Given the description of an element on the screen output the (x, y) to click on. 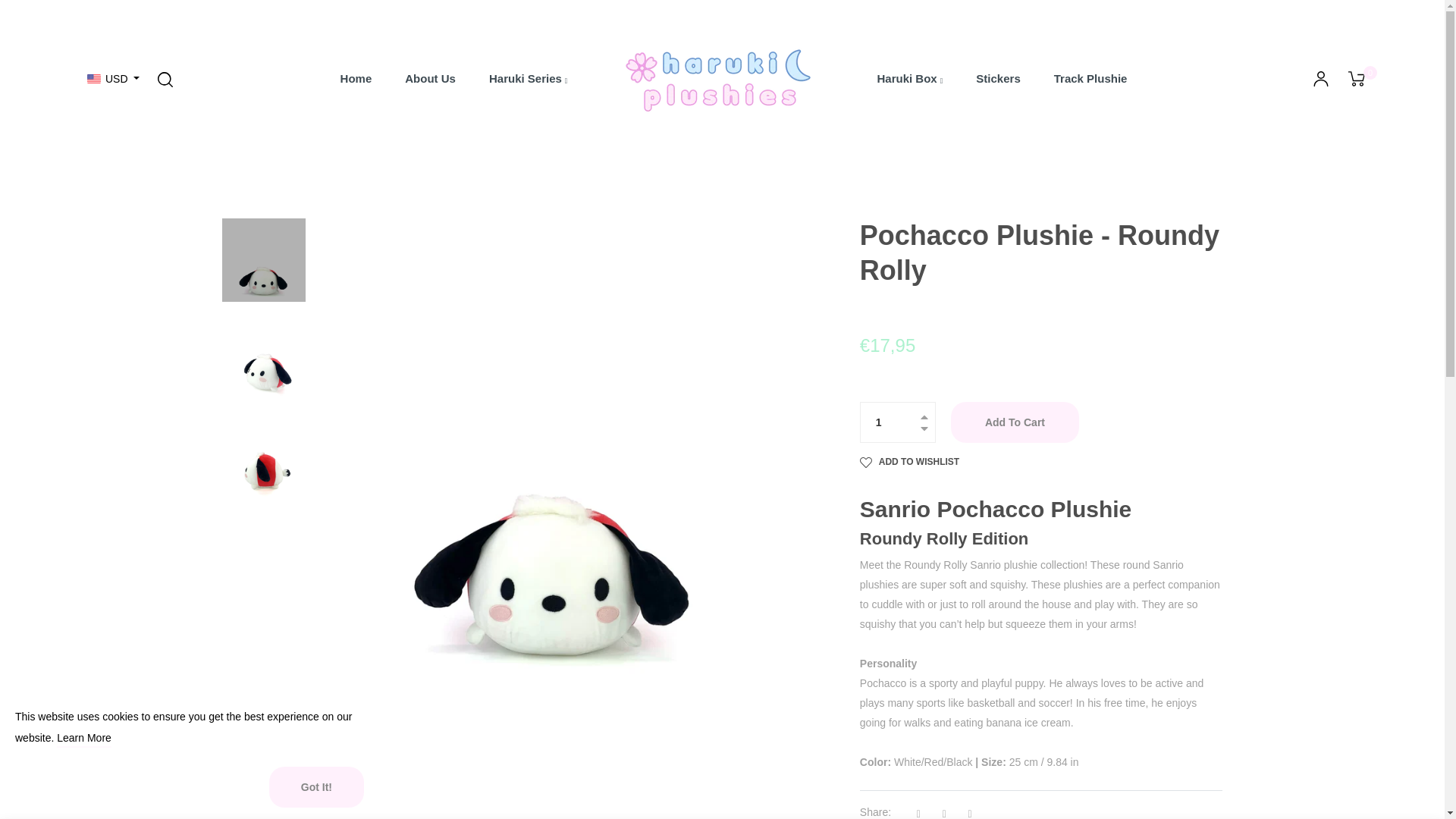
Currencies (113, 78)
Track Plushie (1090, 78)
Stickers (997, 78)
About Us (429, 78)
Haruki Series (528, 78)
Haruki Box (909, 78)
Shopping Cart (1356, 78)
1 (898, 422)
